Given the description of an element on the screen output the (x, y) to click on. 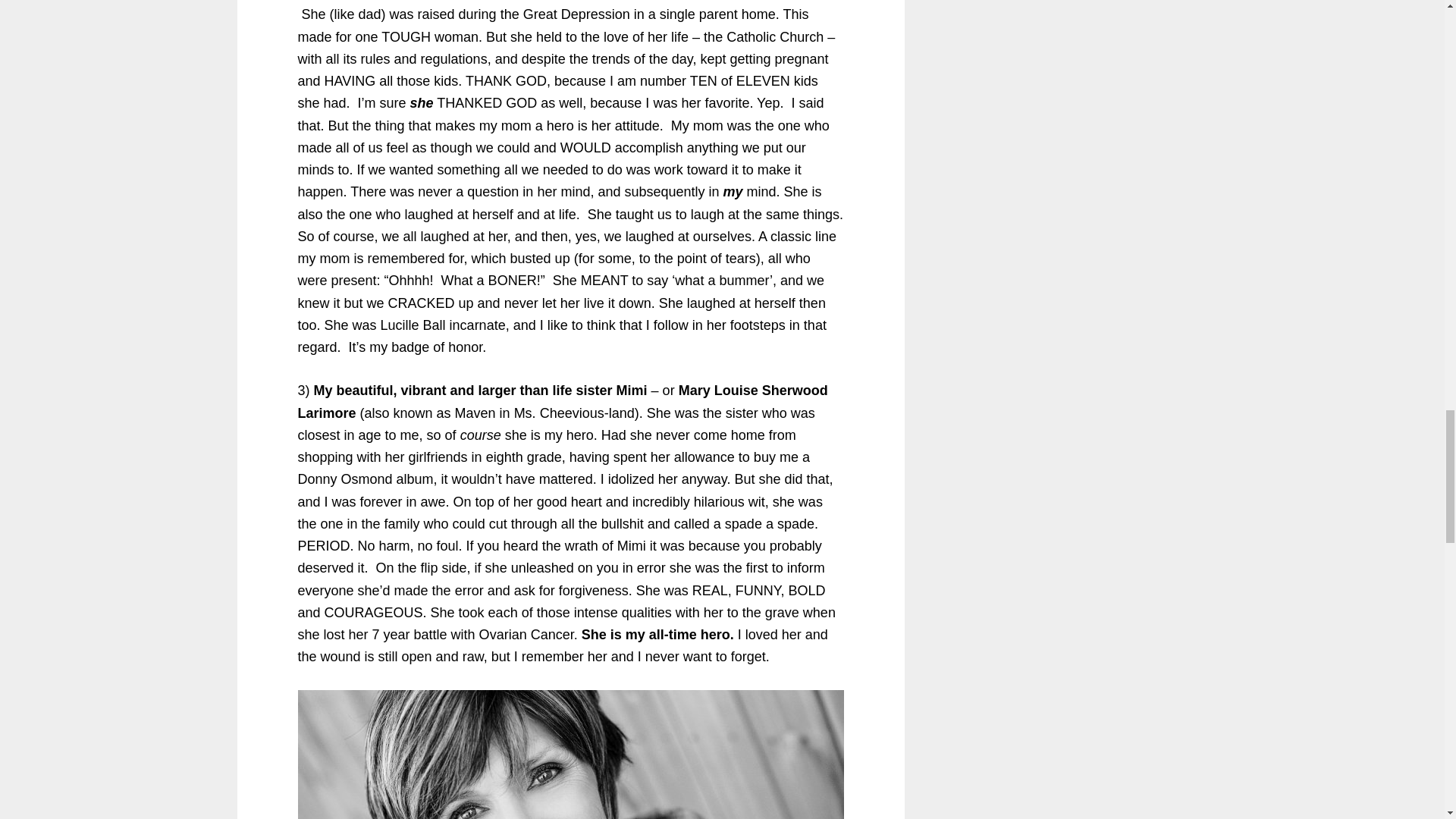
Mimi Sherwood Larimore - a.k.a. Maven (570, 754)
